Given the description of an element on the screen output the (x, y) to click on. 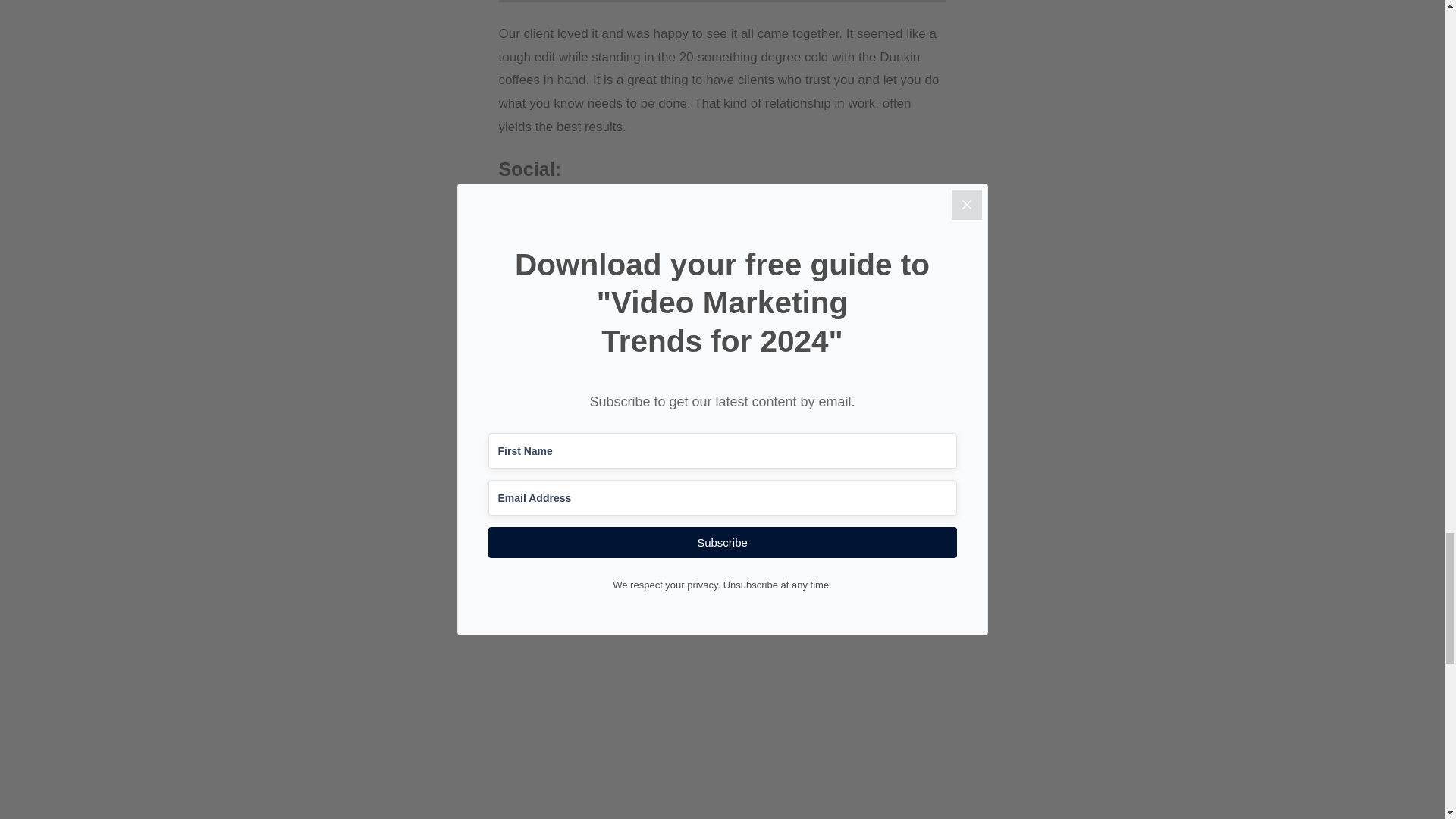
final edit (714, 551)
"Stuck in Traffic?" BHSF Can Help (722, 698)
Instagram post (624, 205)
